Given the description of an element on the screen output the (x, y) to click on. 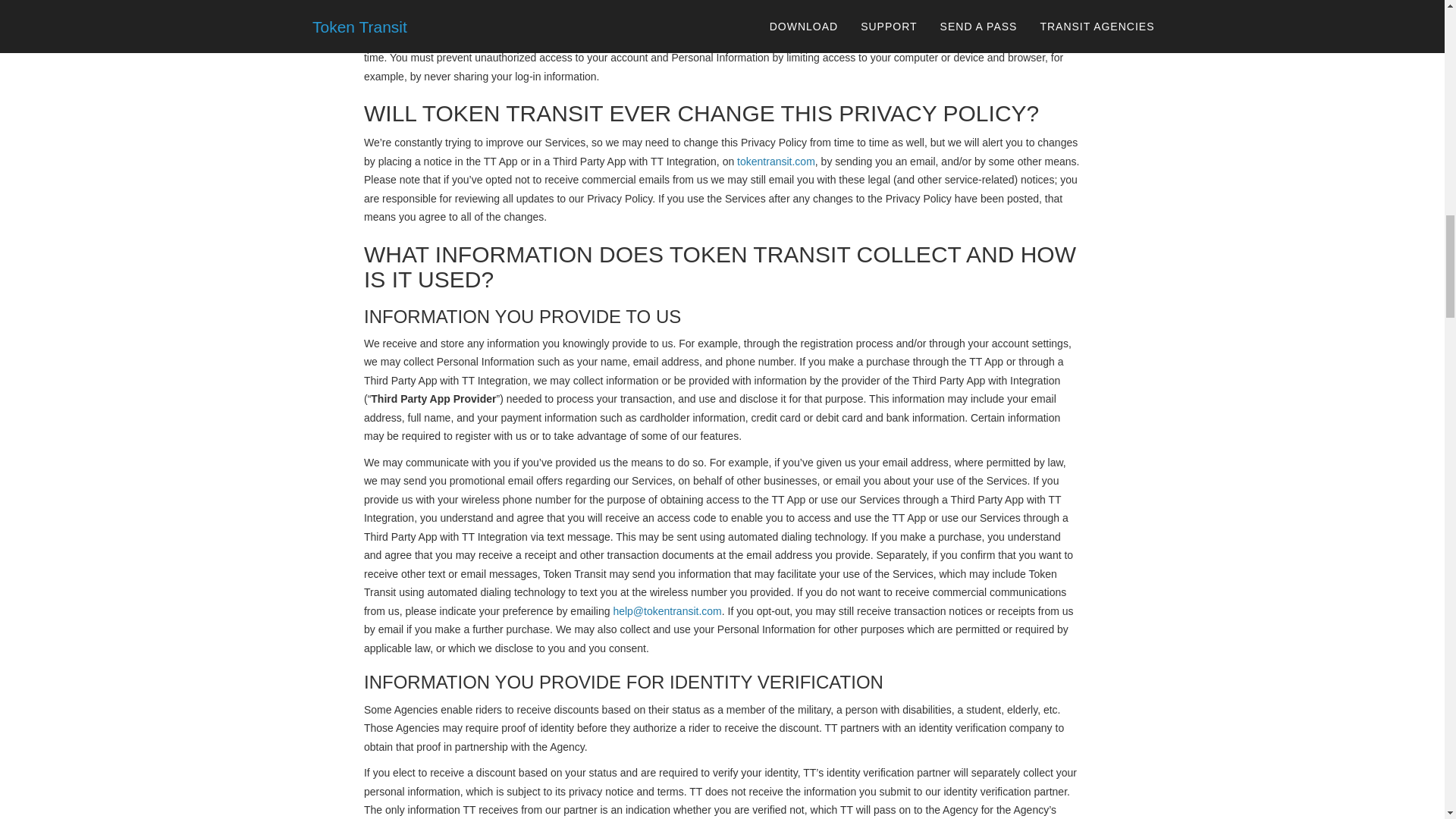
tokentransit.com (775, 161)
